Given the description of an element on the screen output the (x, y) to click on. 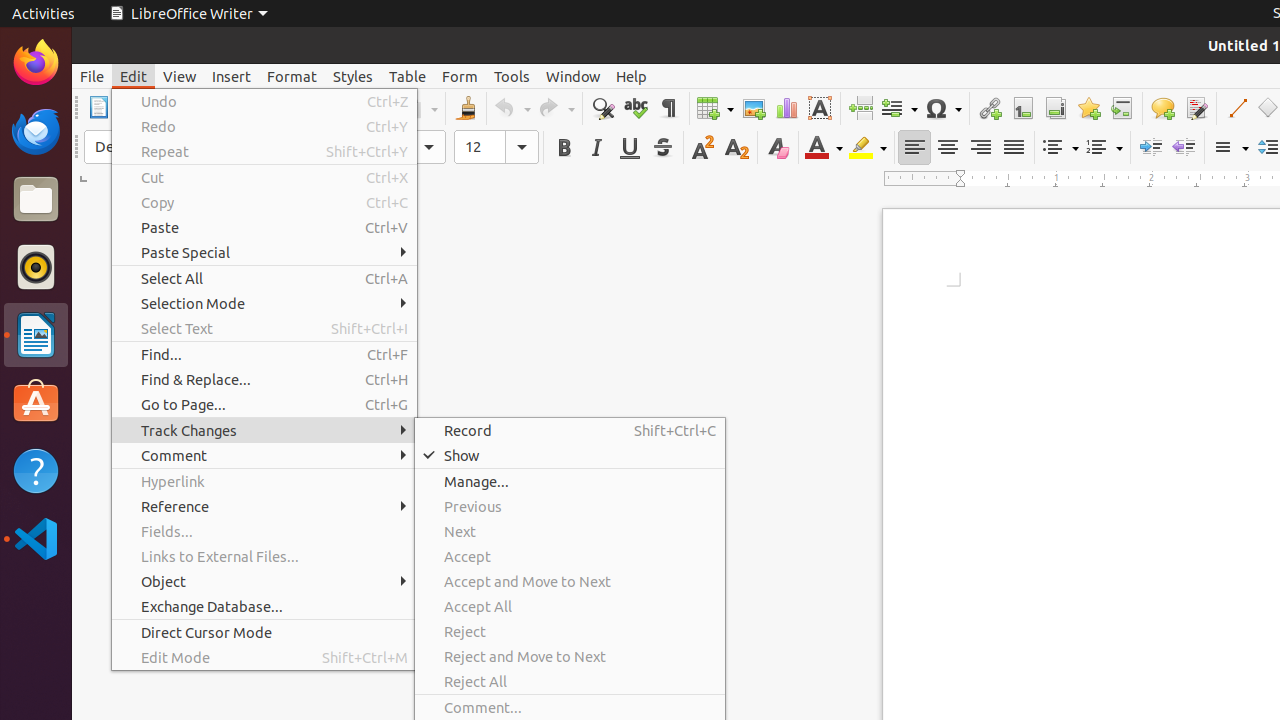
Redo Element type: push-button (556, 108)
Text Box Element type: push-button (819, 108)
Font Size Element type: combo-box (496, 147)
Select Text Element type: menu-item (264, 328)
Image Element type: push-button (753, 108)
